Given the description of an element on the screen output the (x, y) to click on. 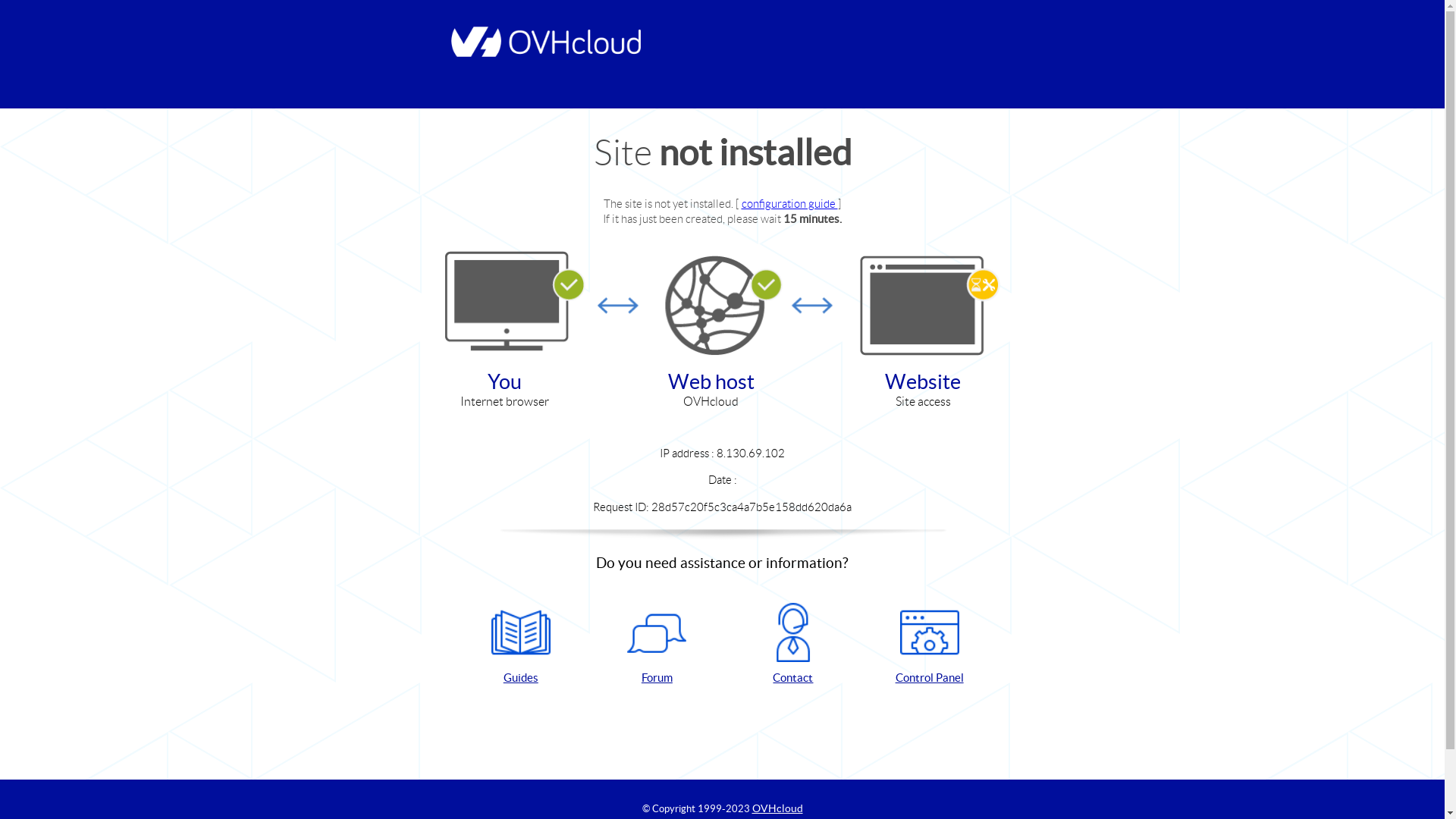
Forum Element type: text (656, 644)
OVHcloud Element type: text (777, 808)
Guides Element type: text (520, 644)
Contact Element type: text (792, 644)
configuration guide Element type: text (789, 203)
Control Panel Element type: text (929, 644)
